Given the description of an element on the screen output the (x, y) to click on. 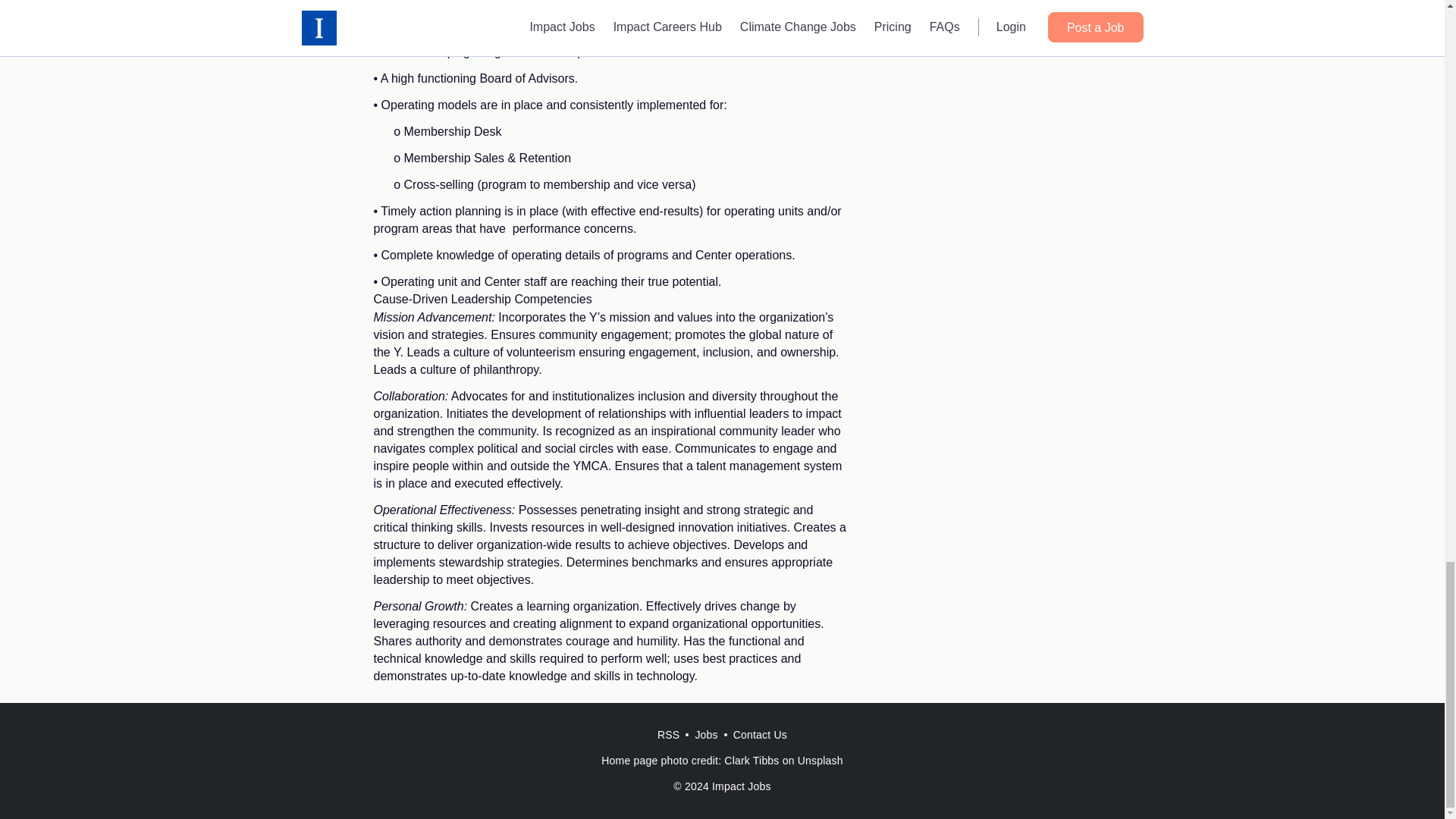
Contact Us (759, 734)
Clark Tibbs (750, 760)
RSS (668, 734)
Unsplash (820, 760)
Jobs (706, 734)
